Given the description of an element on the screen output the (x, y) to click on. 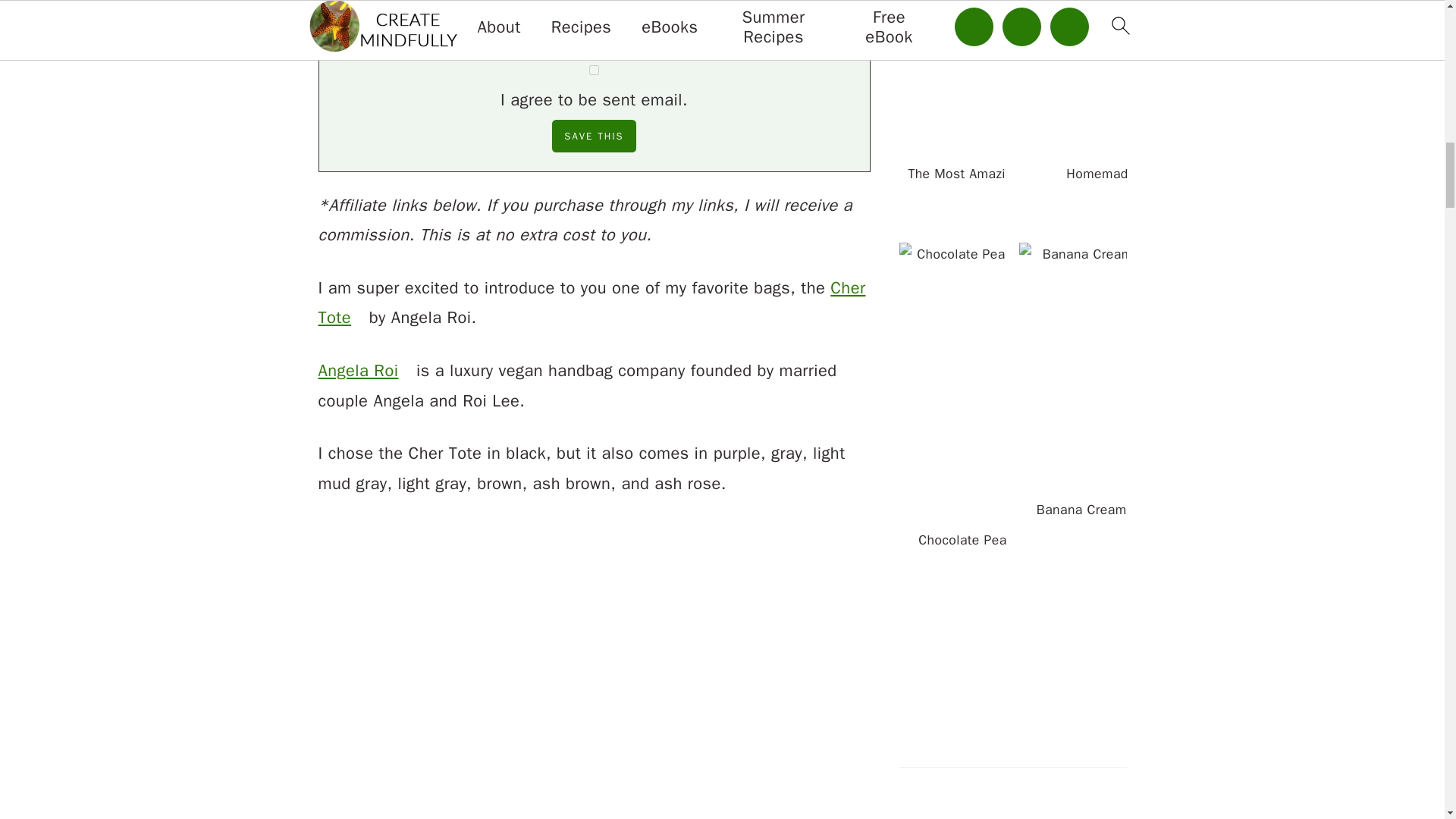
Save This (592, 135)
1 (593, 70)
Save This (592, 135)
Cher Tote (592, 303)
